Given the description of an element on the screen output the (x, y) to click on. 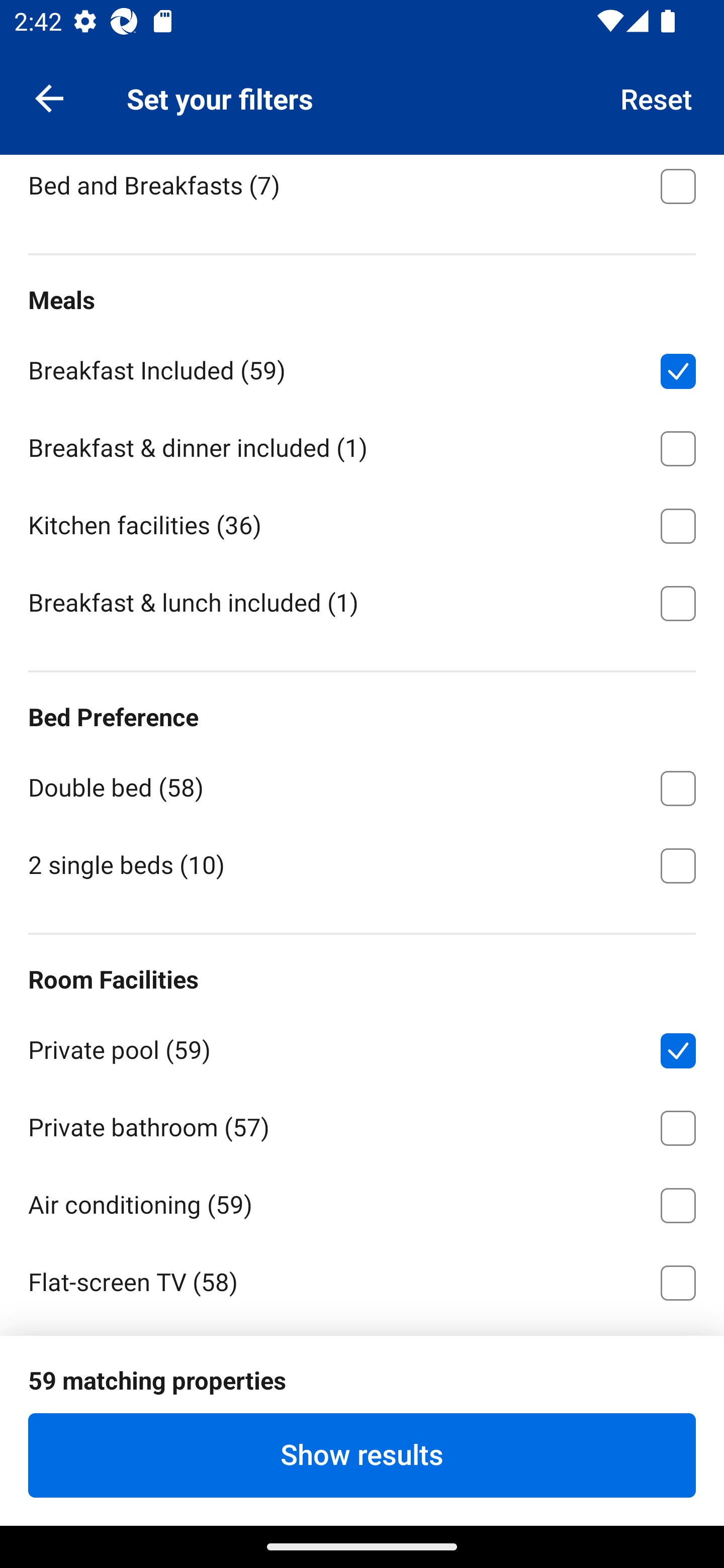
Navigate up (49, 97)
Reset (656, 97)
Apartments ⁦(23) (361, 105)
Bed and Breakfasts ⁦(7) (361, 190)
Breakfast Included ⁦(59) (361, 367)
Breakfast & dinner included ⁦(1) (361, 445)
Kitchen facilities ⁦(36) (361, 522)
Breakfast & lunch included ⁦(1) (361, 601)
Double bed ⁦(58) (361, 784)
2 single beds ⁦(10) (361, 863)
Private pool ⁦(59) (361, 1047)
Private bathroom ⁦(57) (361, 1124)
Air conditioning ⁦(59) (361, 1201)
Flat-screen TV ⁦(58) (361, 1279)
Show results (361, 1454)
